Given the description of an element on the screen output the (x, y) to click on. 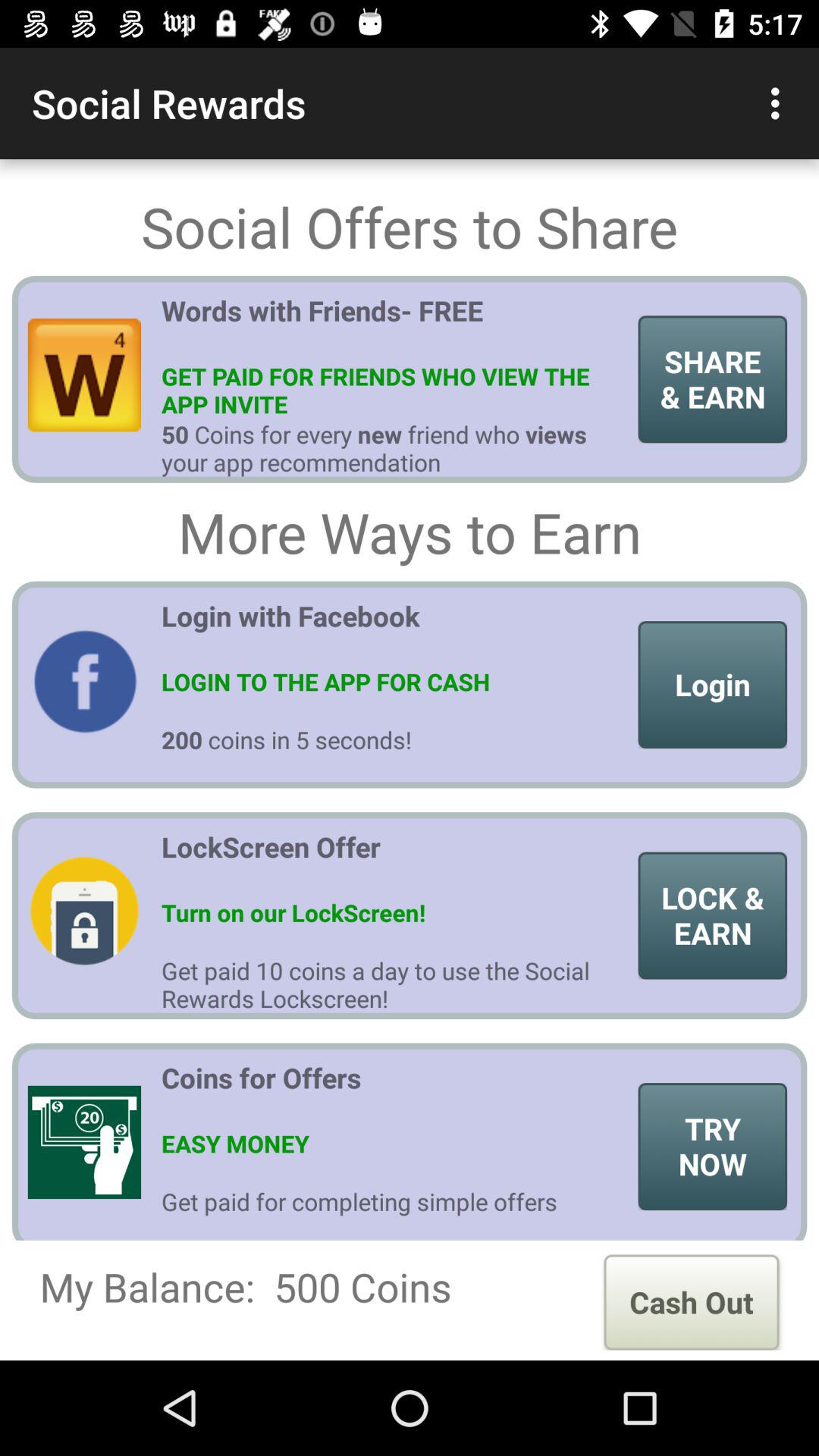
open app to the right of social rewards app (779, 103)
